Given the description of an element on the screen output the (x, y) to click on. 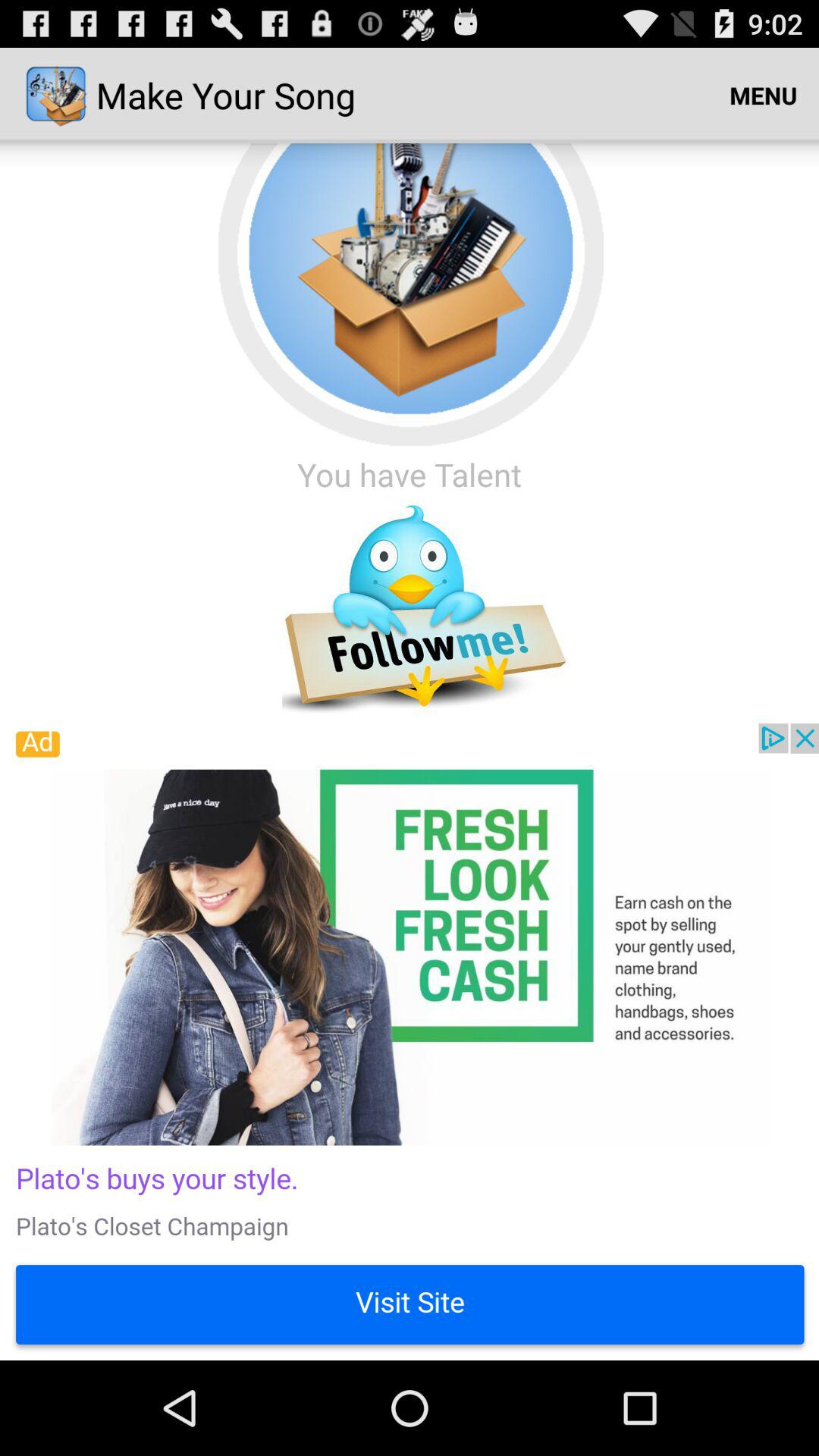
click to follow (409, 609)
